Given the description of an element on the screen output the (x, y) to click on. 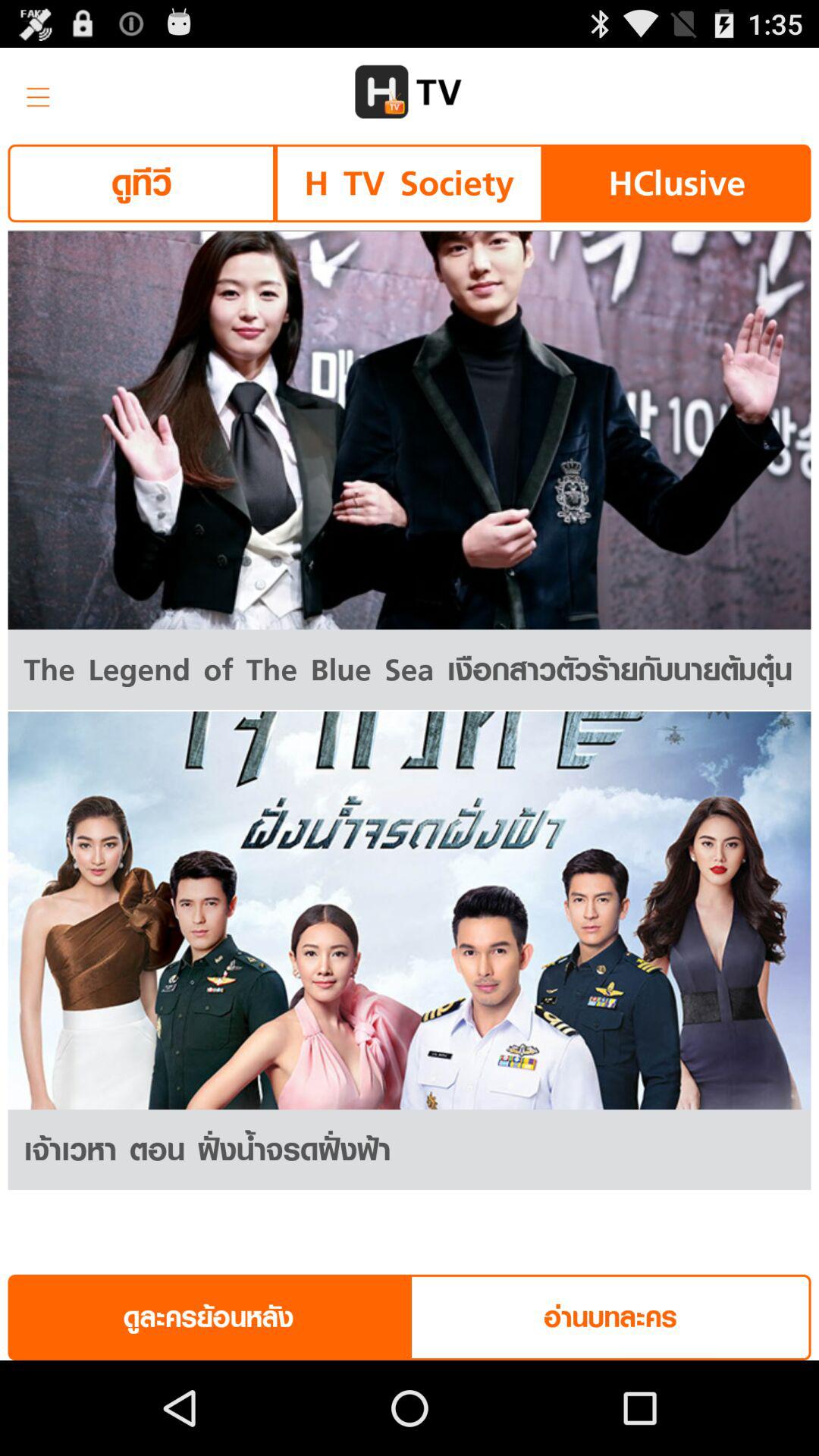
open the item next to hclusive button (409, 183)
